Given the description of an element on the screen output the (x, y) to click on. 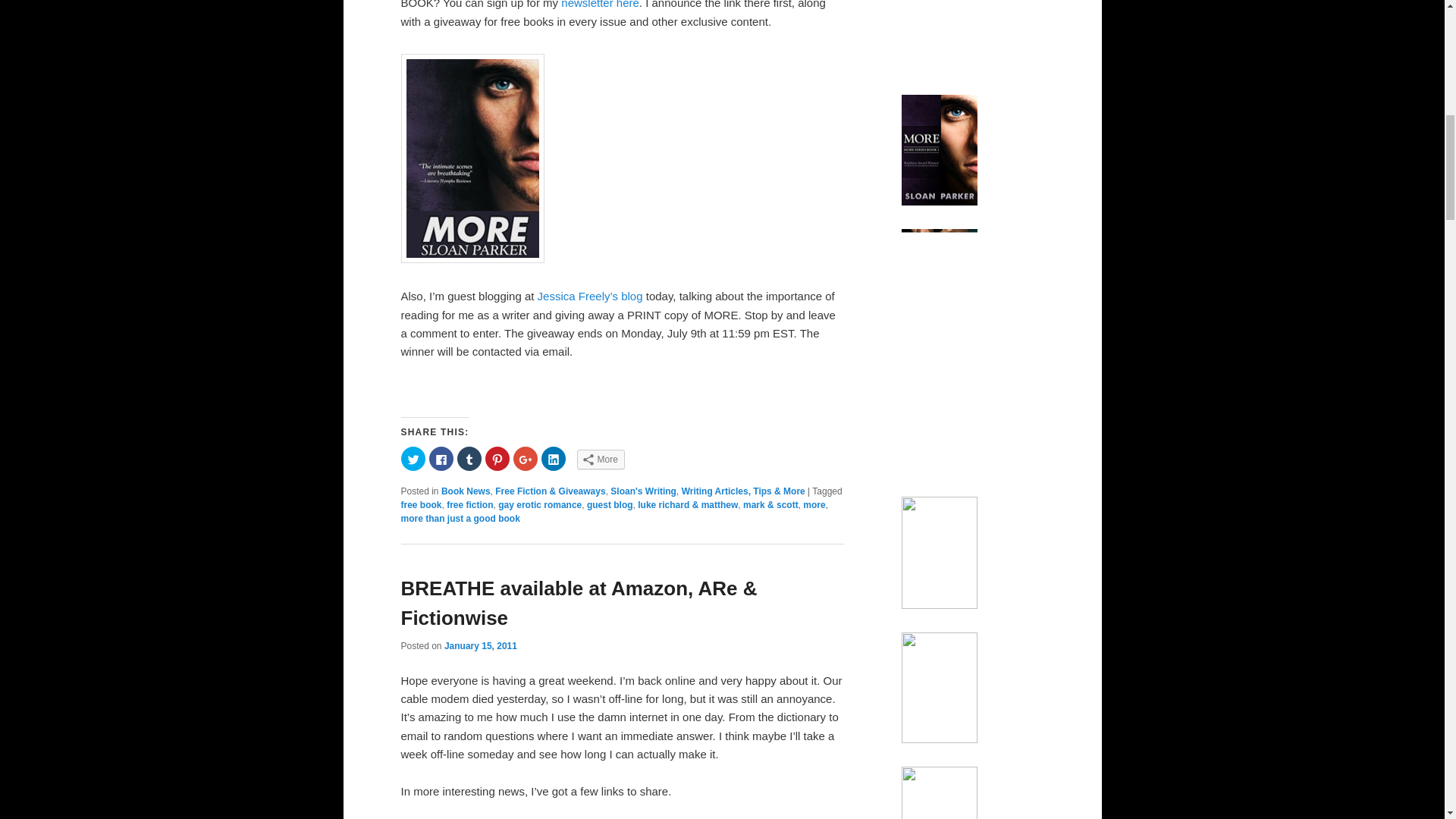
Click to share on Tumblr (468, 458)
Book News (465, 491)
Guest Blog Post (471, 258)
newsletter here (599, 4)
Click to share on Twitter (412, 458)
More (600, 459)
Click to share on Pinterest (496, 458)
Click to share on Facebook (440, 458)
Click to share on LinkedIn (553, 458)
Newsletter (599, 4)
